Given the description of an element on the screen output the (x, y) to click on. 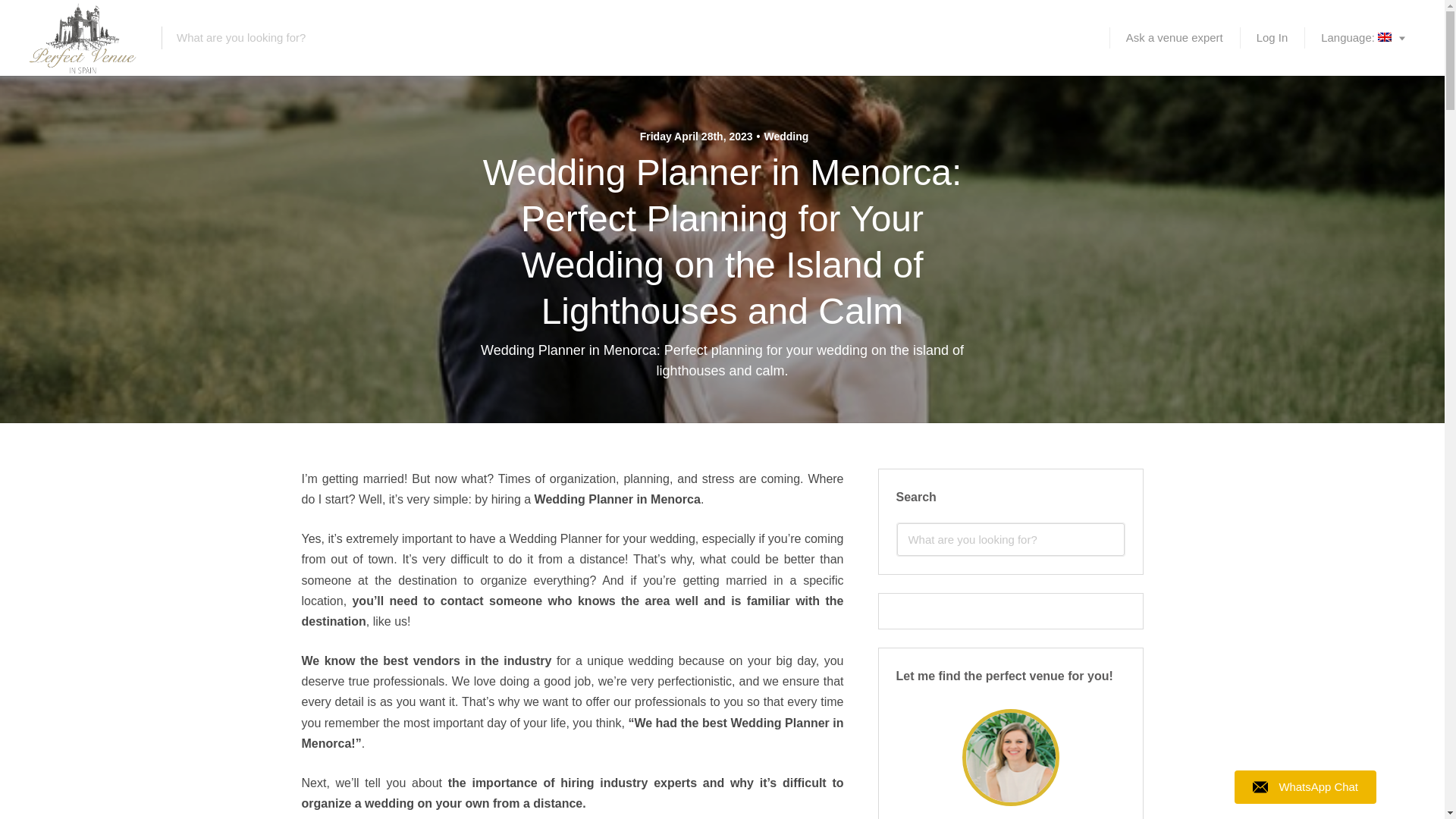
English (1363, 37)
Friday April 28th, 2023 (696, 136)
Wedding (783, 136)
Ask a venue expert (1174, 37)
Language:  (1363, 37)
Log In (1272, 37)
